Given the description of an element on the screen output the (x, y) to click on. 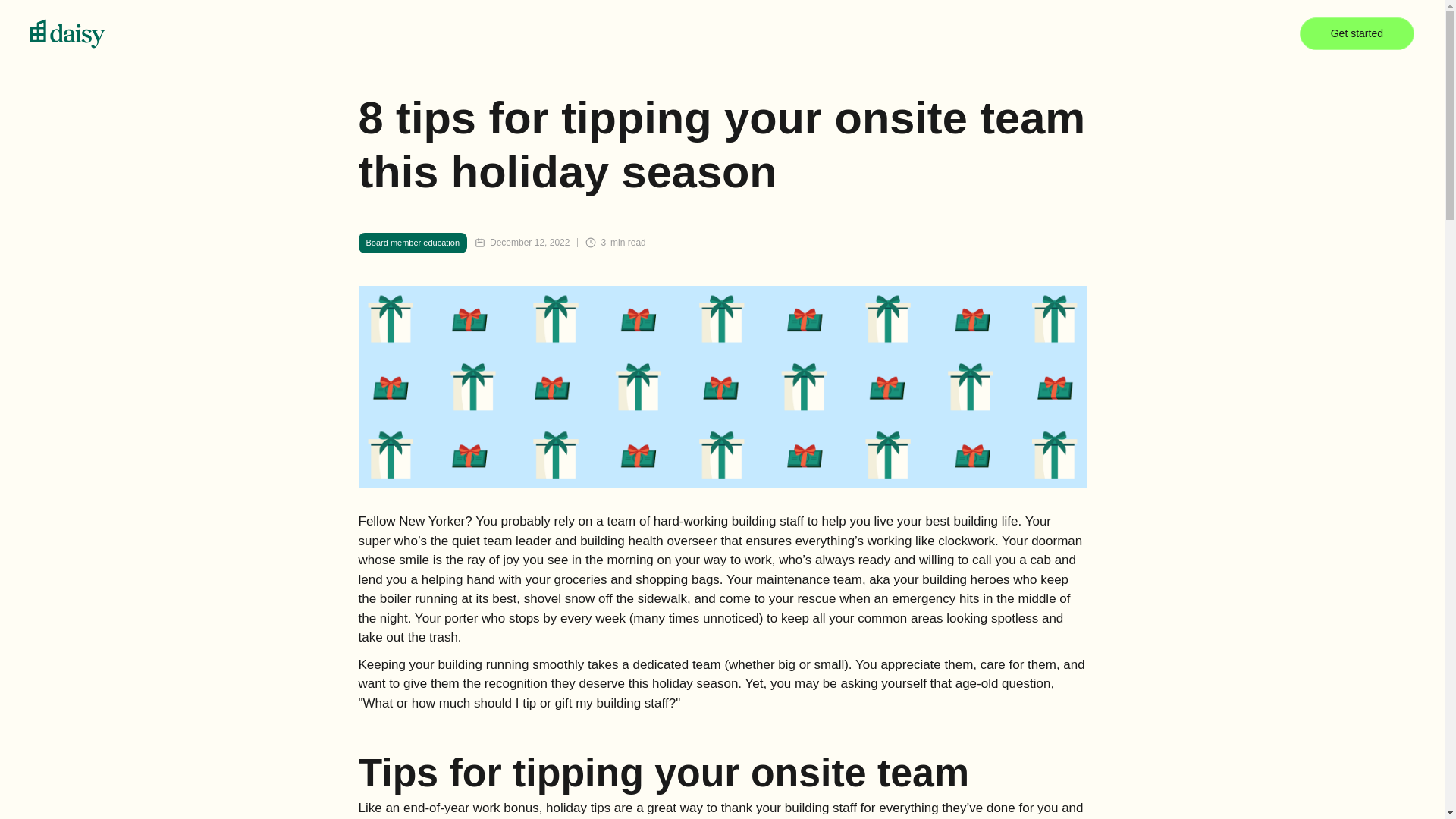
Get started (1356, 32)
